Given the description of an element on the screen output the (x, y) to click on. 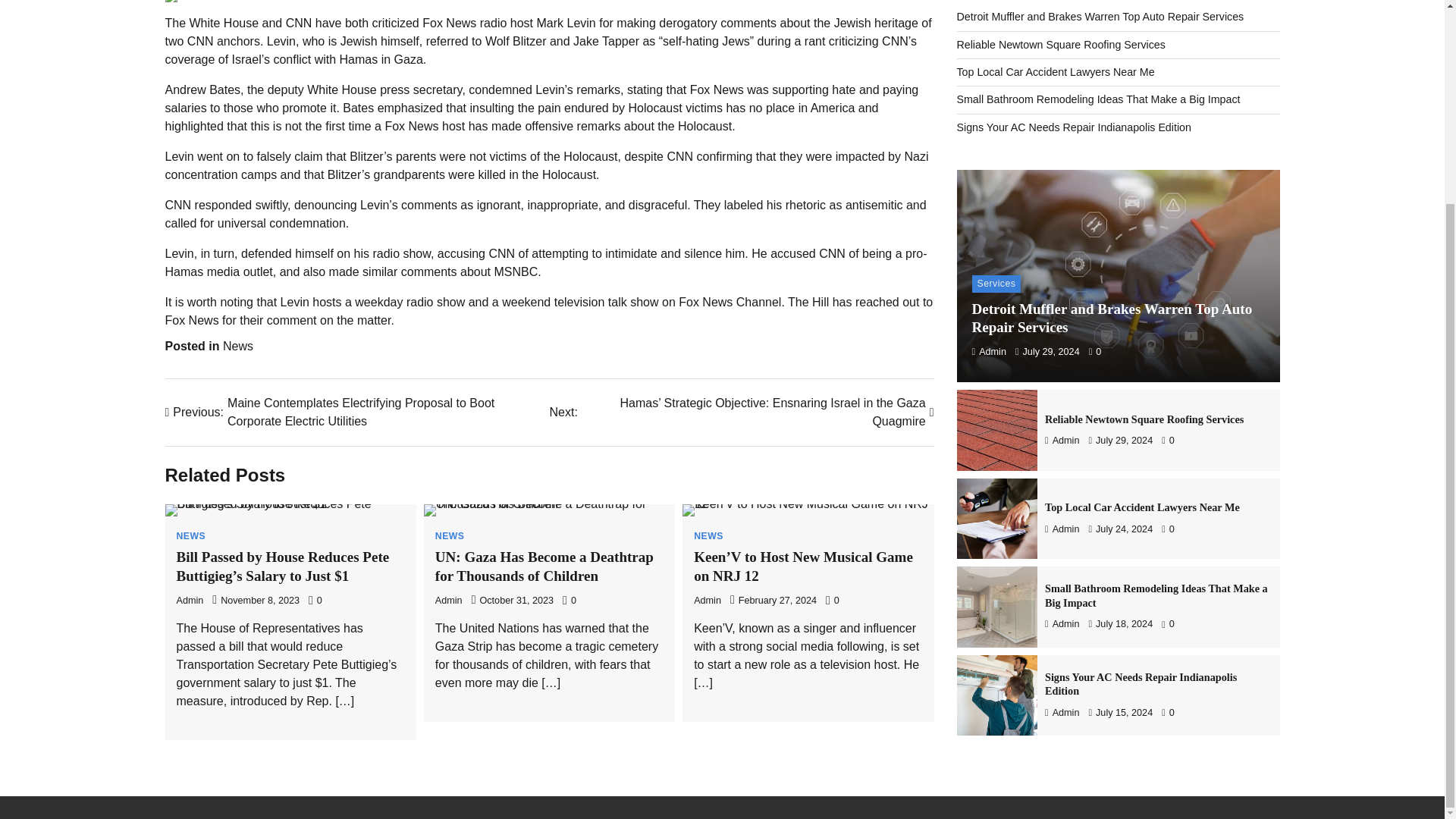
UN: Gaza Has Become a Deathtrap for Thousands of Children (544, 565)
Top Local Car Accident Lawyers Near Me (1055, 70)
Admin (707, 600)
Admin (189, 600)
Reliable Newtown Square Roofing Services (1061, 43)
Admin (449, 600)
NEWS (190, 535)
NEWS (708, 535)
NEWS (449, 535)
Services (997, 282)
